Given the description of an element on the screen output the (x, y) to click on. 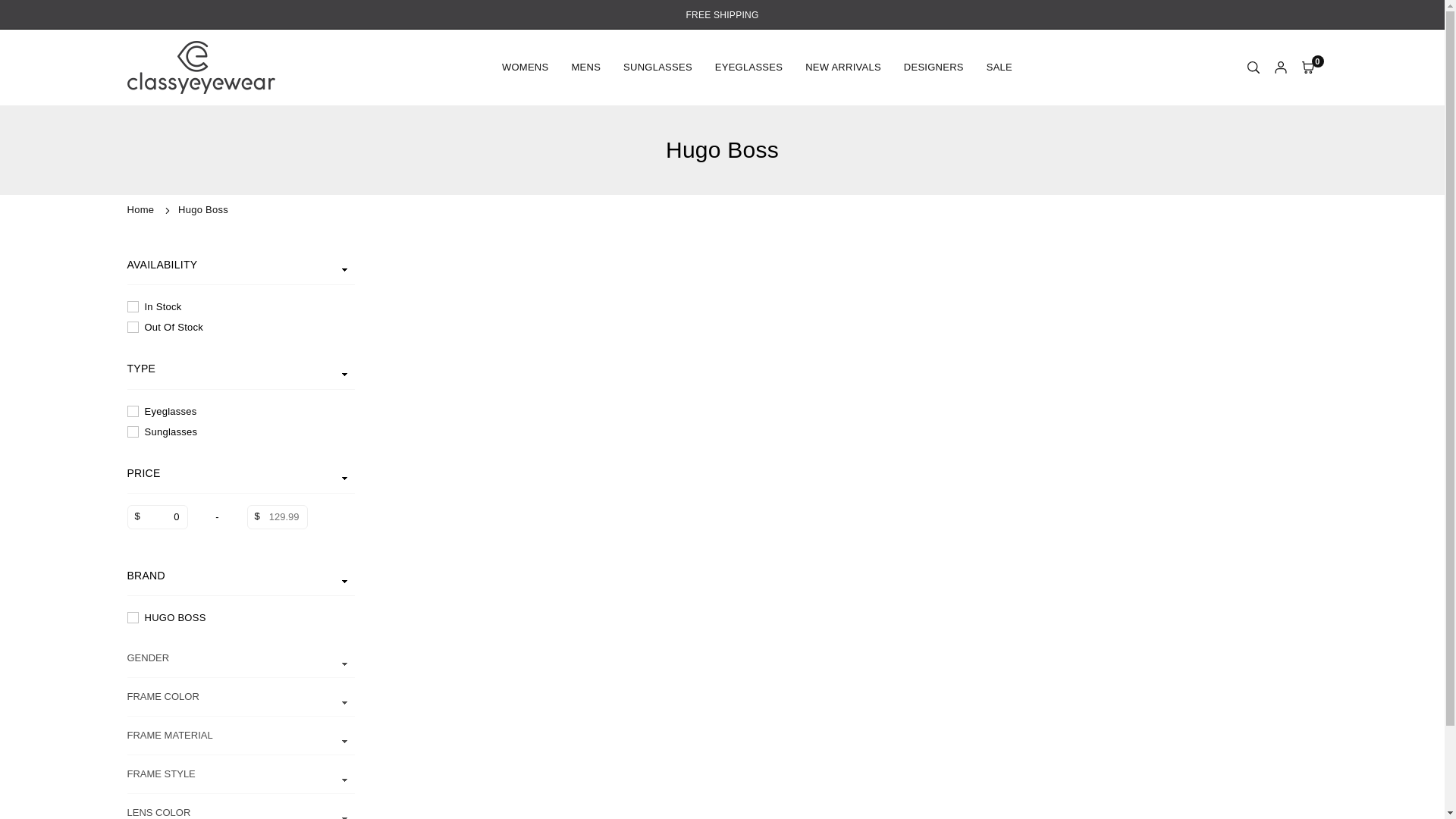
WOMENS (525, 67)
Back to the home page (142, 209)
CLASSY EYEWEAR (201, 67)
0 (157, 517)
